Given the description of an element on the screen output the (x, y) to click on. 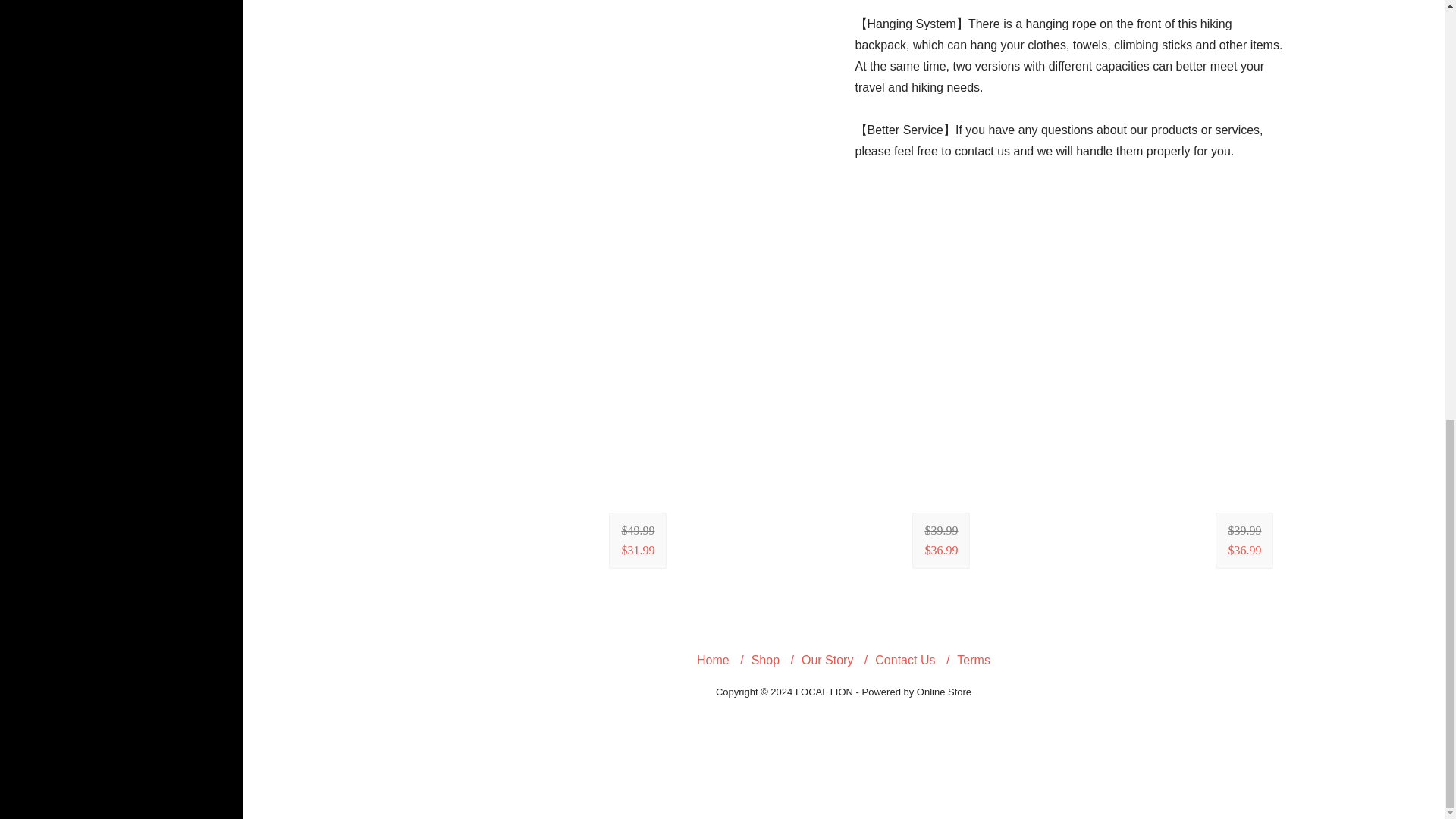
Home (713, 659)
Terms (973, 659)
Our Story (827, 659)
Shop (764, 659)
Contact Us (904, 659)
Powered by Online Store (916, 691)
